Given the description of an element on the screen output the (x, y) to click on. 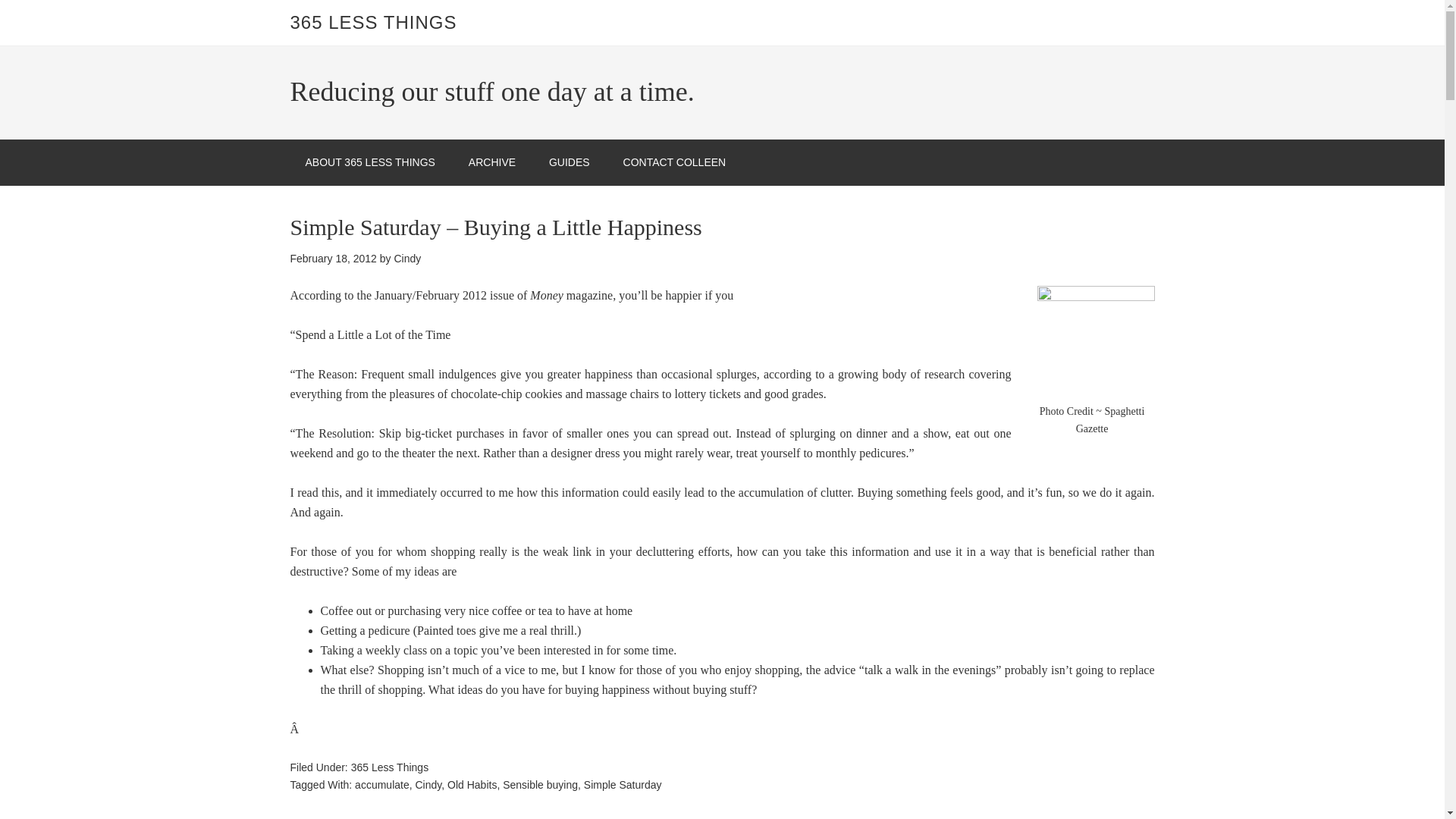
Cindy (406, 258)
Old Habits (471, 784)
ABOUT 365 LESS THINGS (369, 162)
Cindy (427, 784)
365 Less Things (389, 767)
CONTACT COLLEEN (674, 162)
365 LESS THINGS (373, 22)
accumulate (382, 784)
GUIDES (569, 162)
ARCHIVE (491, 162)
